Given the description of an element on the screen output the (x, y) to click on. 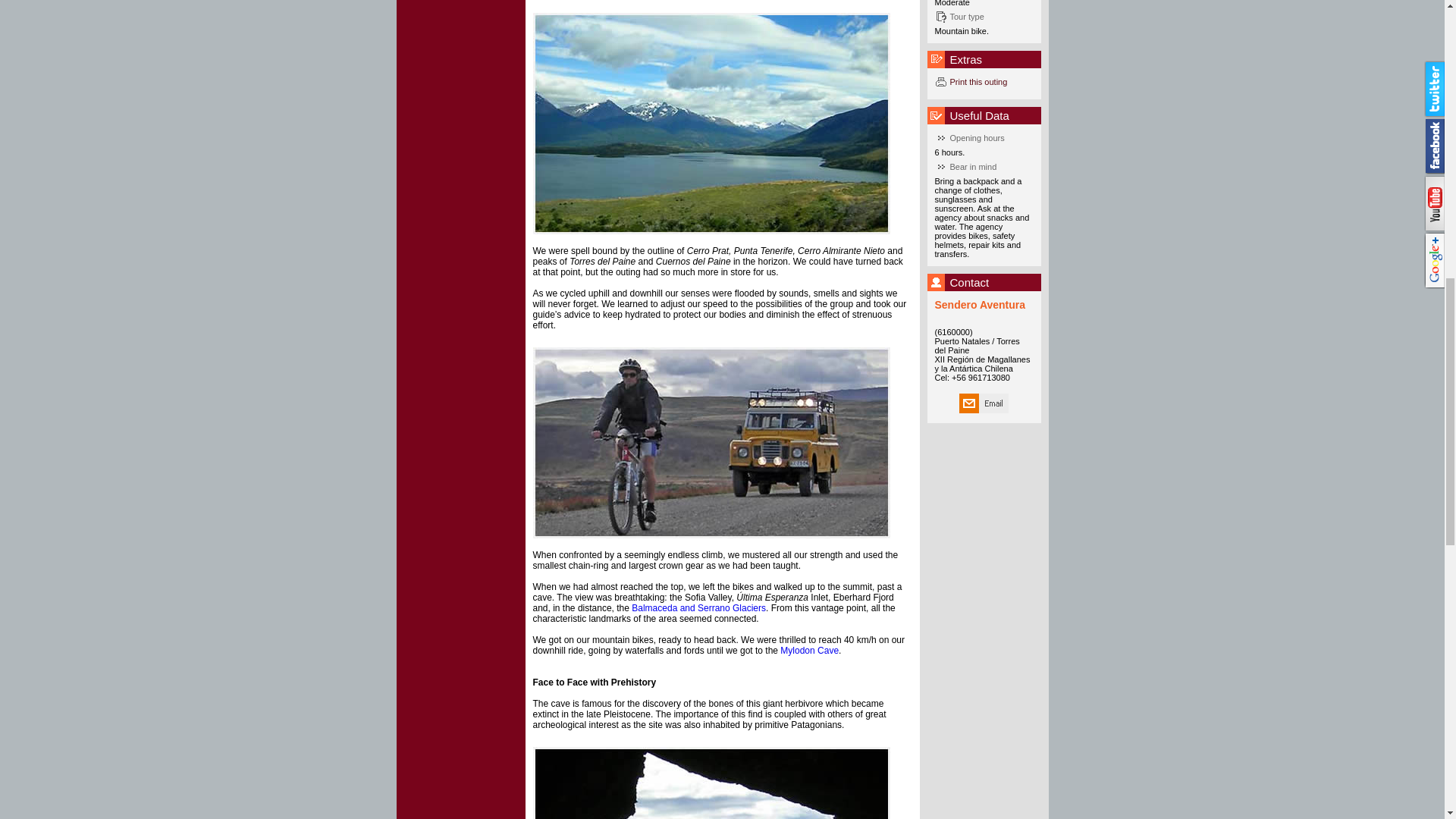
Print this outing (991, 81)
Balmaceda and Serrano Glaciers (698, 607)
Mylodon Cave (809, 650)
